Given the description of an element on the screen output the (x, y) to click on. 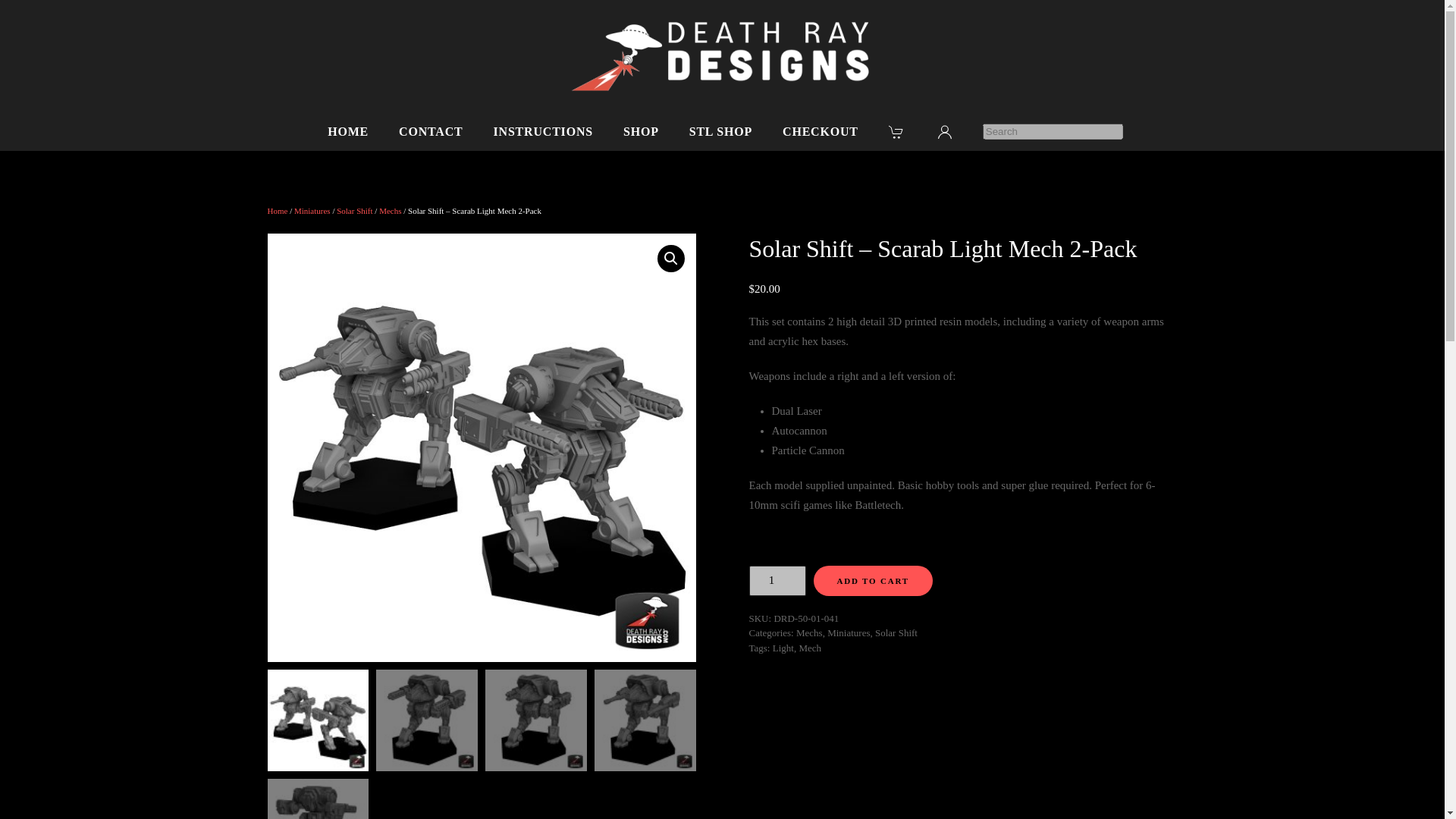
HOME (347, 131)
SHOP (641, 131)
CONTACT (430, 131)
INSTRUCTIONS (542, 131)
1 (777, 580)
